Given the description of an element on the screen output the (x, y) to click on. 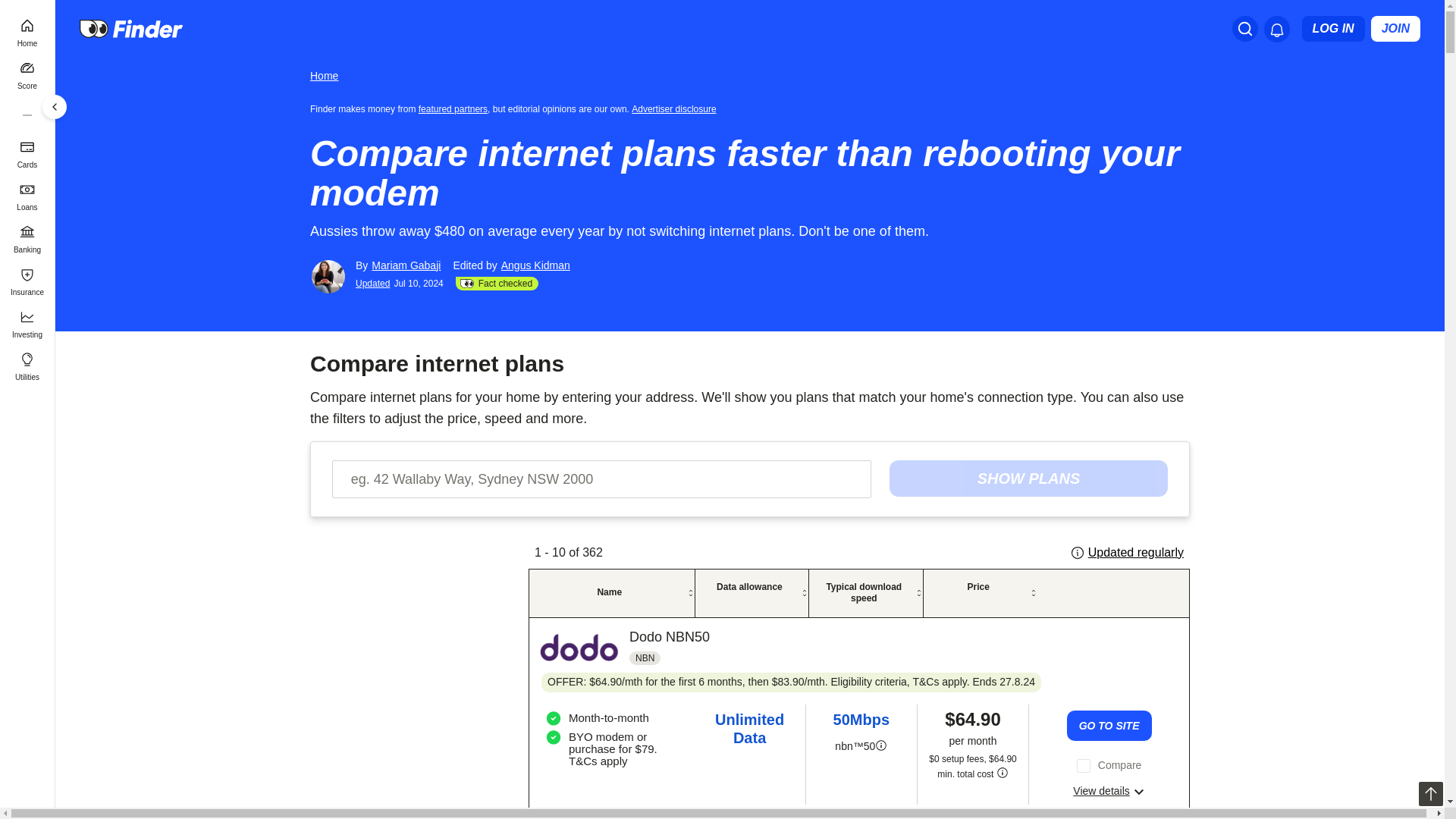
Read More About The Dodo NBN50 (1109, 790)
NBN 50 (880, 746)
Apply Now For The Dodo NBN50 (1109, 725)
Important information about this website (676, 108)
